Given the description of an element on the screen output the (x, y) to click on. 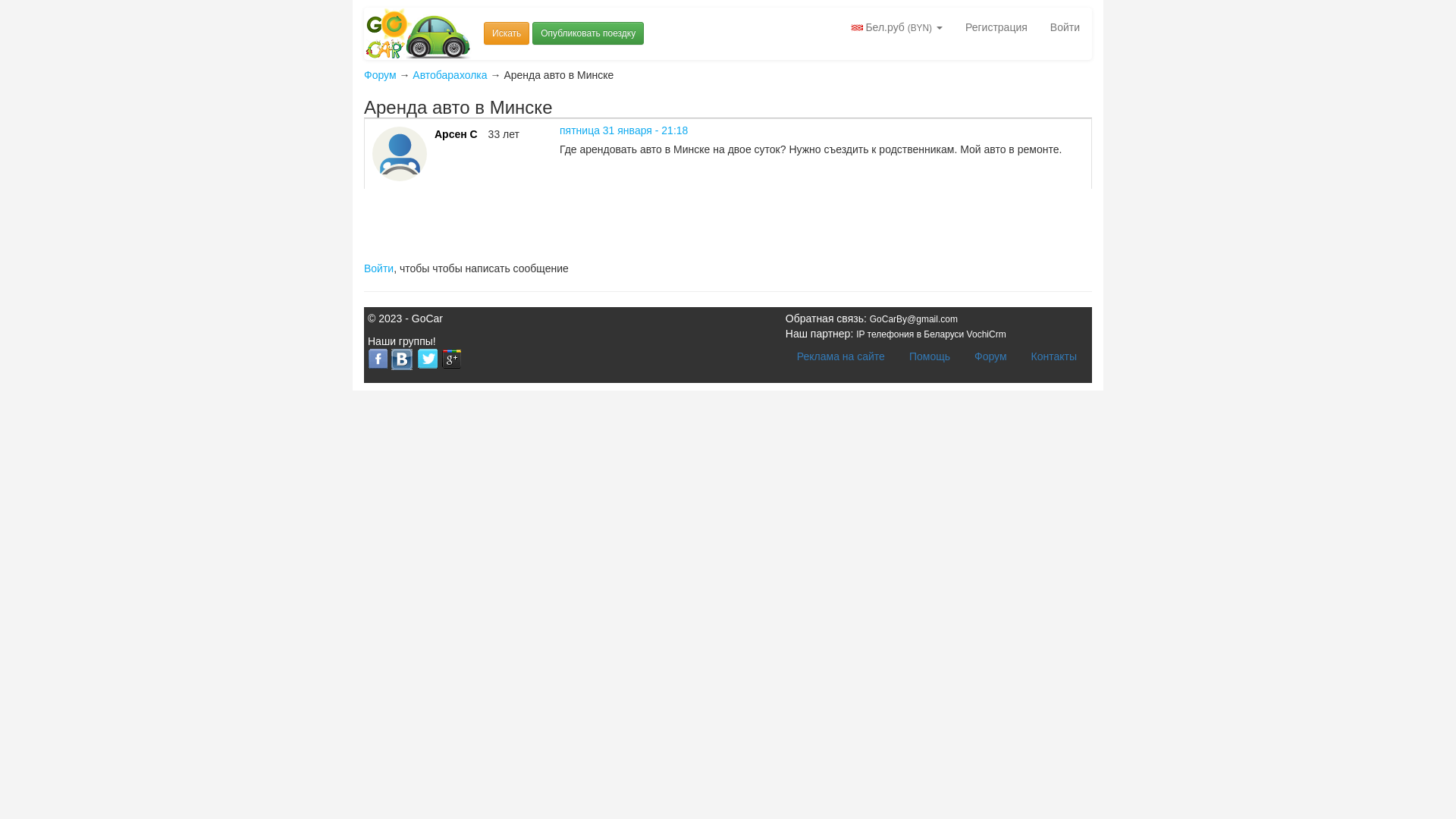
Advertisement Element type: hover (640, 222)
GoCarBy@gmail.com Element type: text (913, 318)
